Given the description of an element on the screen output the (x, y) to click on. 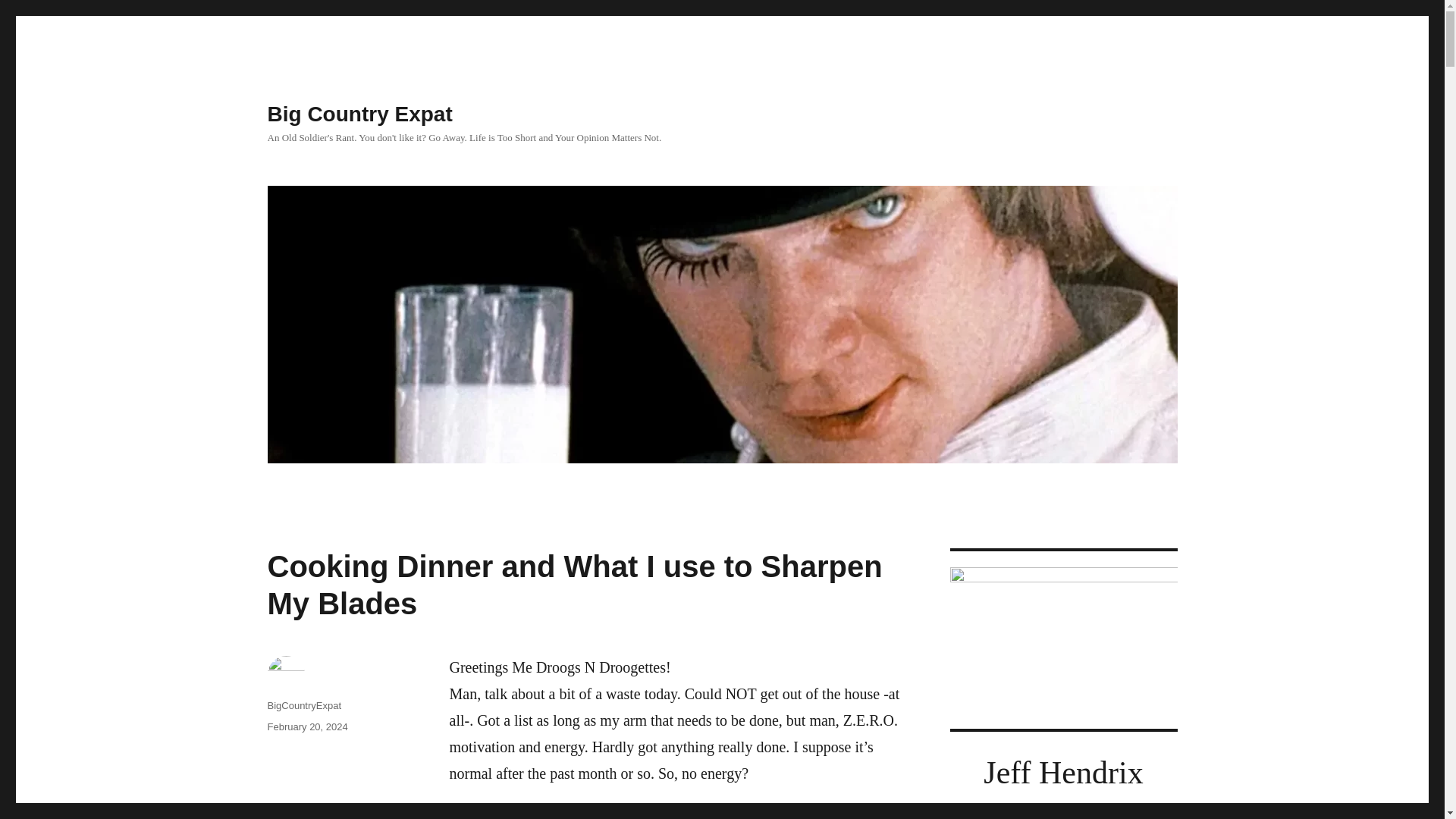
February 20, 2024 (306, 726)
BigCountryExpat (303, 705)
Big Country Expat (358, 114)
